Given the description of an element on the screen output the (x, y) to click on. 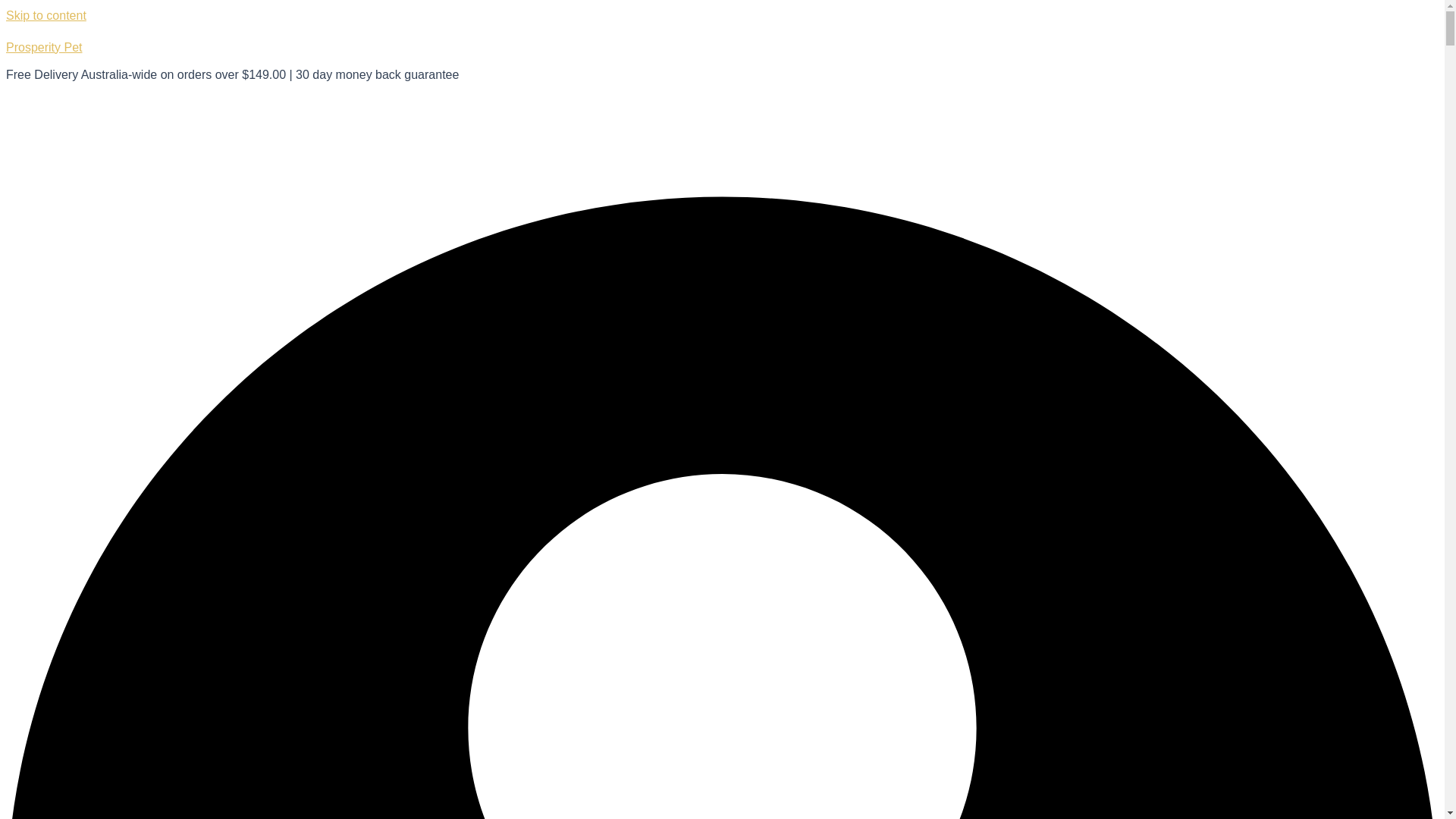
Prosperity Pet (43, 47)
Skip to content (45, 15)
Prosperity Pet (43, 47)
Skip to content (45, 15)
